Given the description of an element on the screen output the (x, y) to click on. 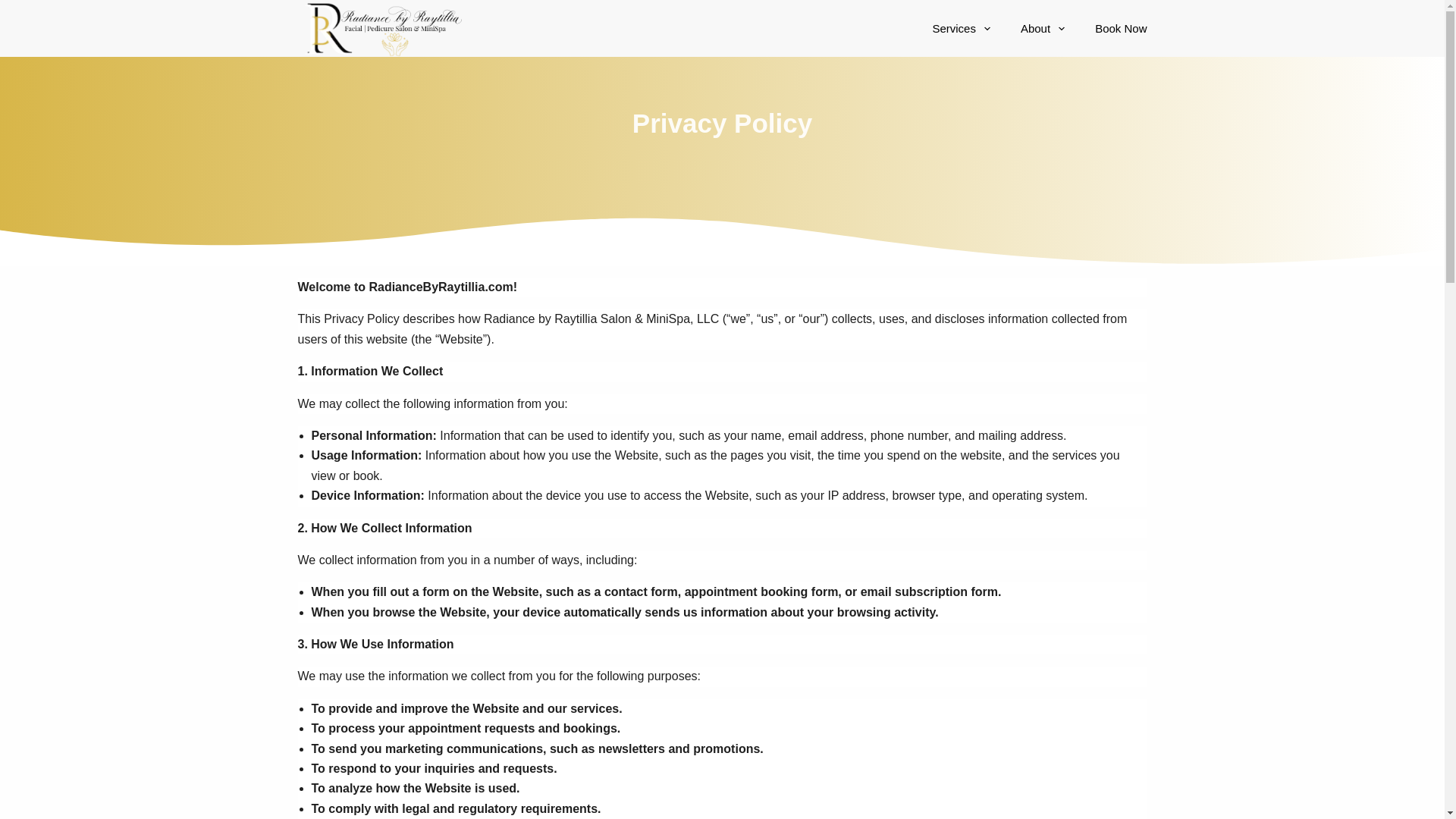
About (1043, 28)
Book Now (1113, 28)
Services (961, 28)
Skip to content (15, 7)
Privacy Policy (701, 533)
Cookie Policy (700, 554)
